Given the description of an element on the screen output the (x, y) to click on. 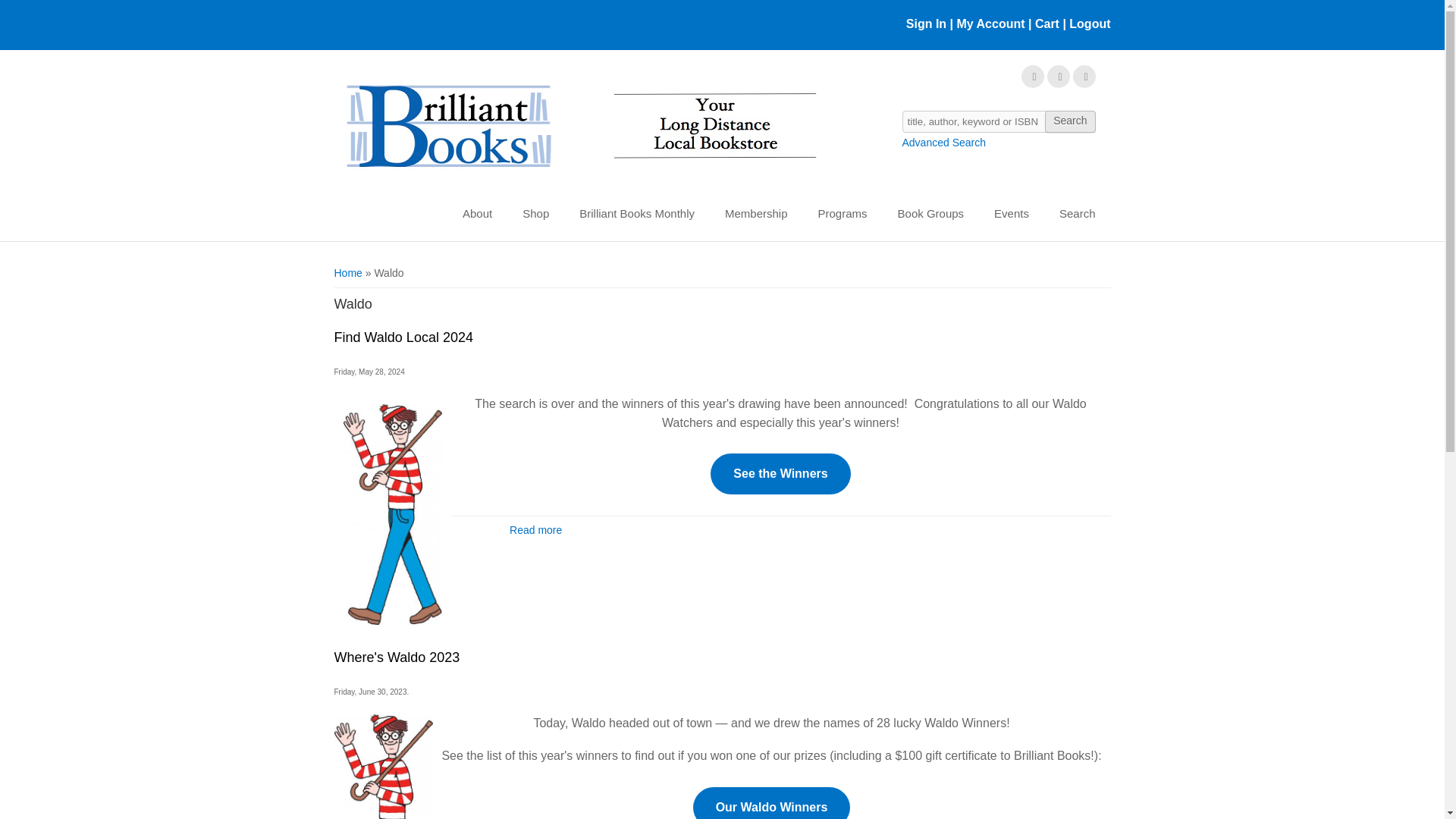
Cart (1047, 23)
Home (579, 127)
Enter the terms you wish to search for. (999, 121)
About (476, 213)
Search (1069, 121)
My Account (990, 23)
Sign In (925, 23)
Logout (1087, 23)
Shop (535, 213)
Search (1069, 121)
